Given the description of an element on the screen output the (x, y) to click on. 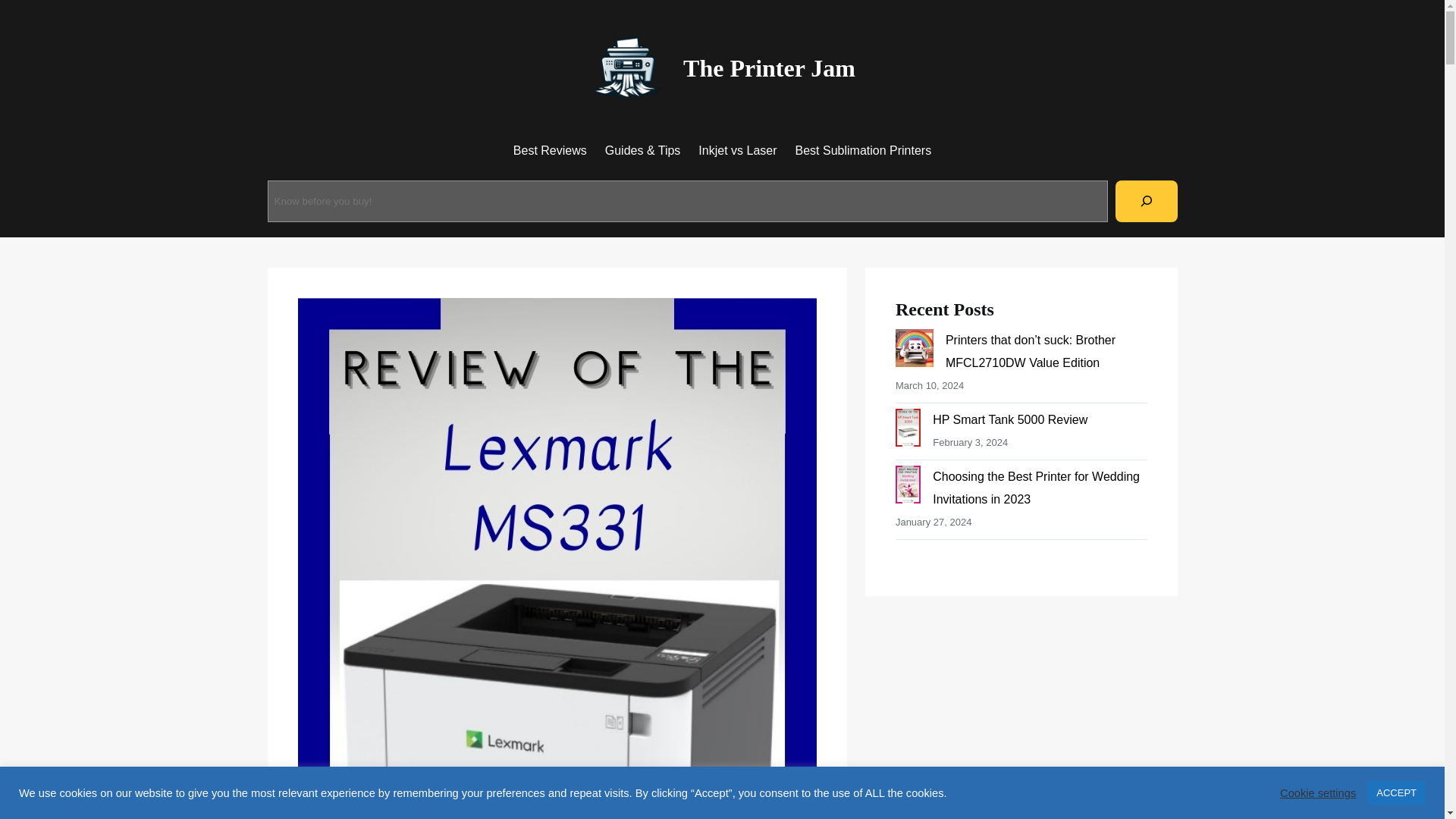
The Printer Jam (769, 67)
Best Reviews (549, 150)
Inkjet vs Laser (737, 150)
Best Sublimation Printers (862, 150)
